Given the description of an element on the screen output the (x, y) to click on. 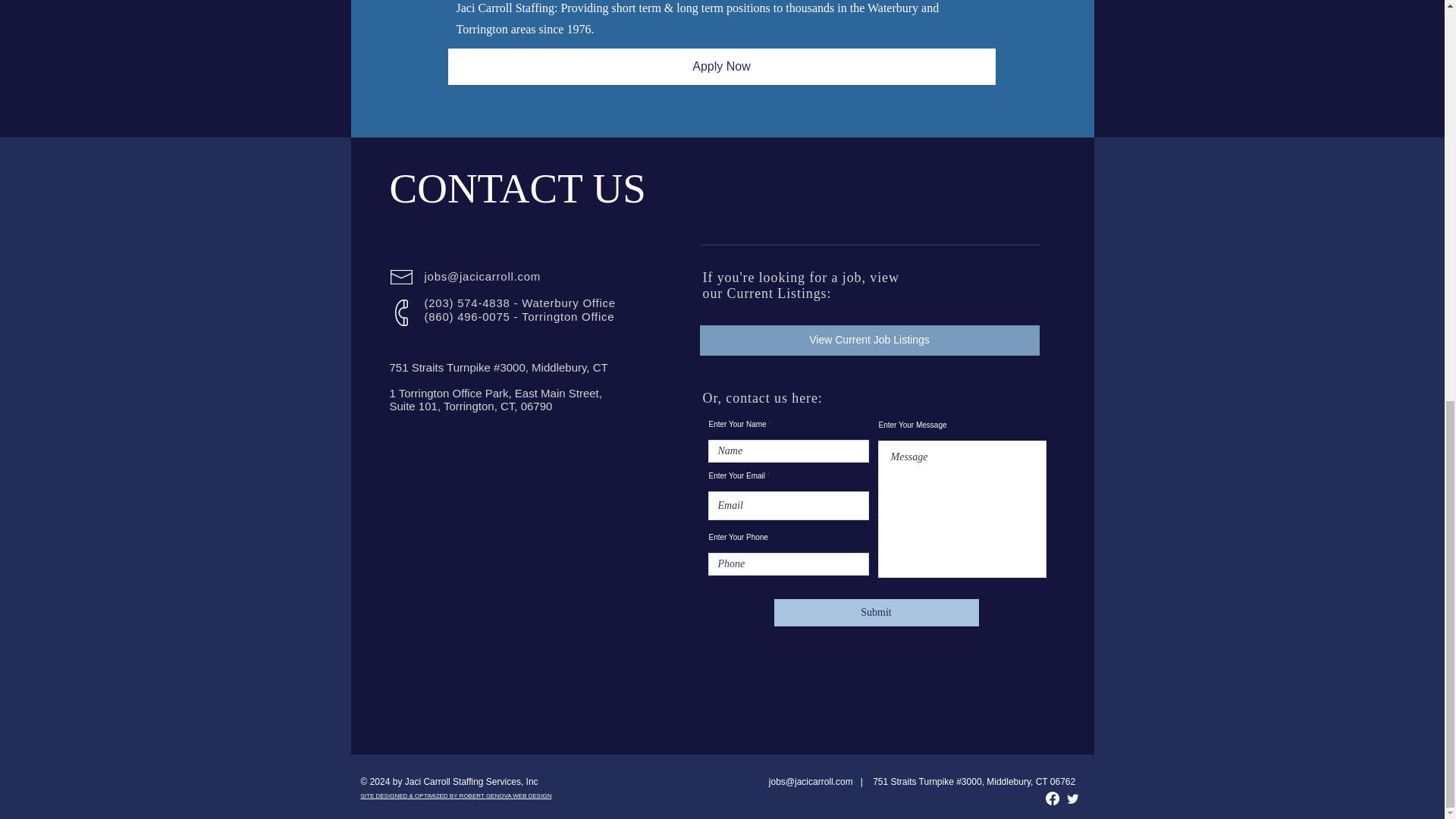
Apply Now (720, 66)
mail.png (401, 277)
Submit (875, 612)
View Current Job Listings (868, 340)
